Given the description of an element on the screen output the (x, y) to click on. 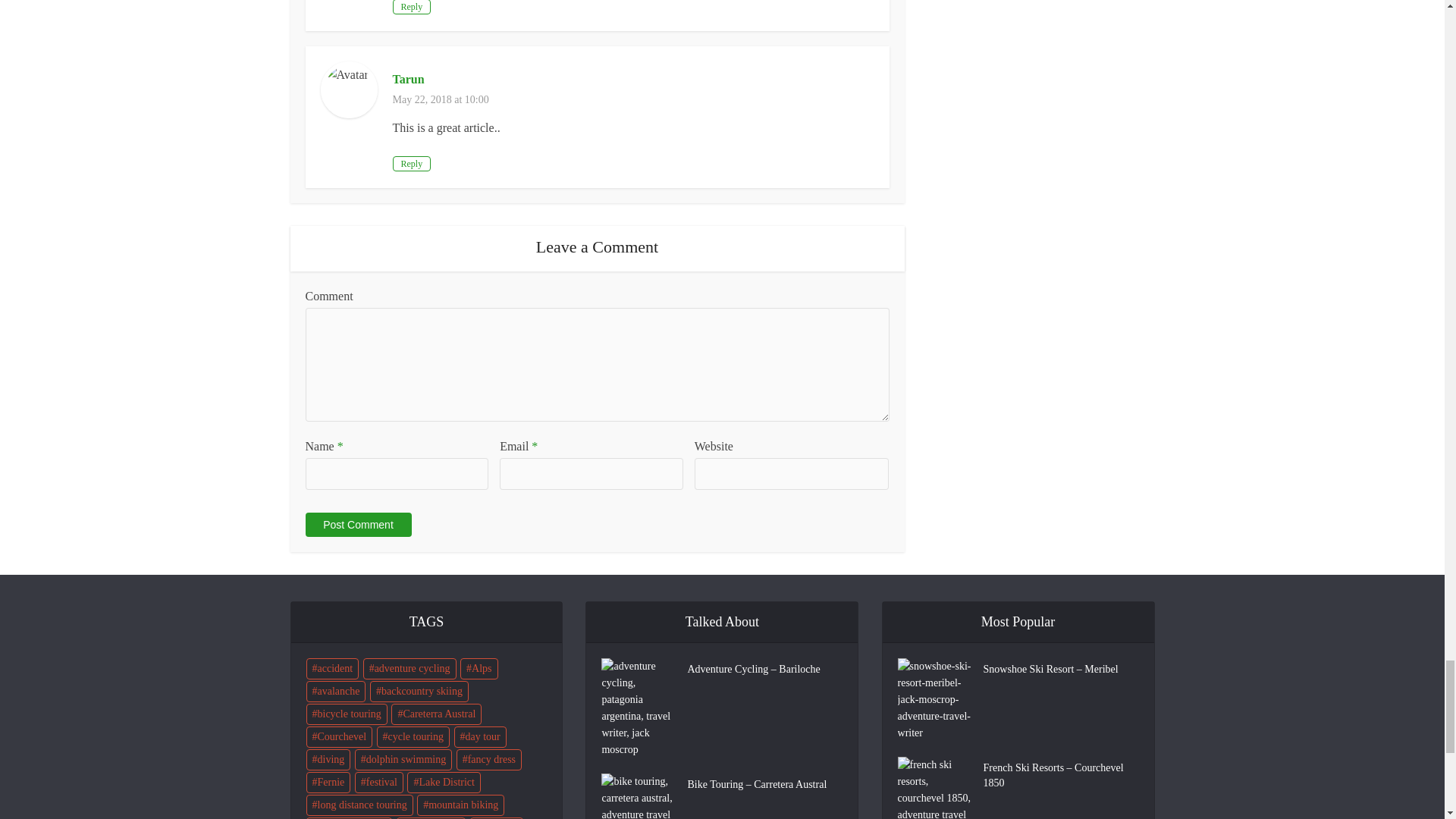
Post Comment (357, 524)
